Given the description of an element on the screen output the (x, y) to click on. 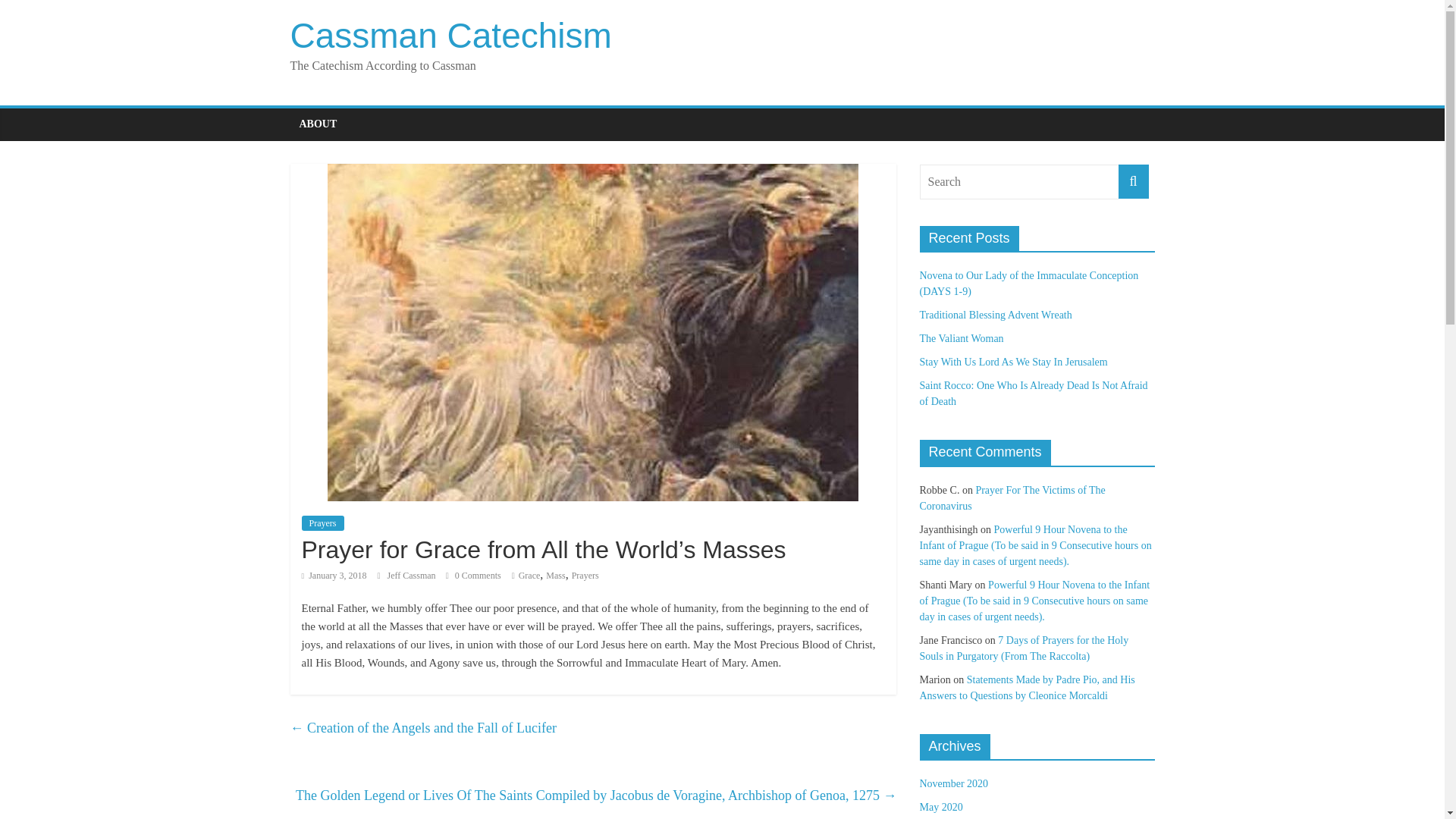
Saint Rocco: One Who Is Already Dead Is Not Afraid of Death (1032, 393)
Jeff Cassman (412, 575)
The Valiant Woman (960, 337)
Prayers (585, 575)
Cassman Catechism (450, 35)
Cassman Catechism (450, 35)
January 3, 2018 (333, 575)
November 2020 (953, 783)
Traditional Blessing Advent Wreath (994, 315)
0 Comments (472, 575)
